Given the description of an element on the screen output the (x, y) to click on. 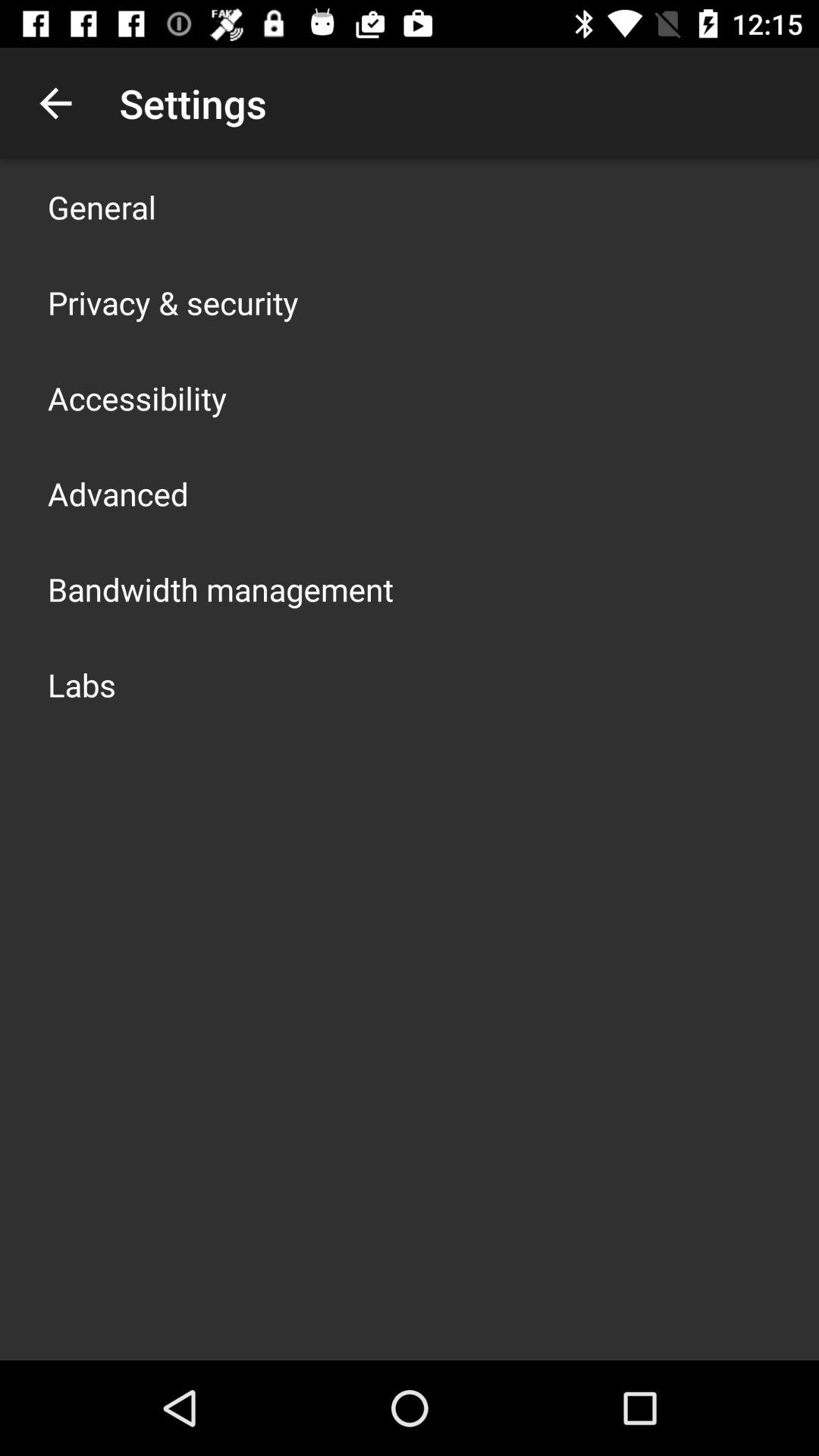
choose the privacy & security app (172, 302)
